Given the description of an element on the screen output the (x, y) to click on. 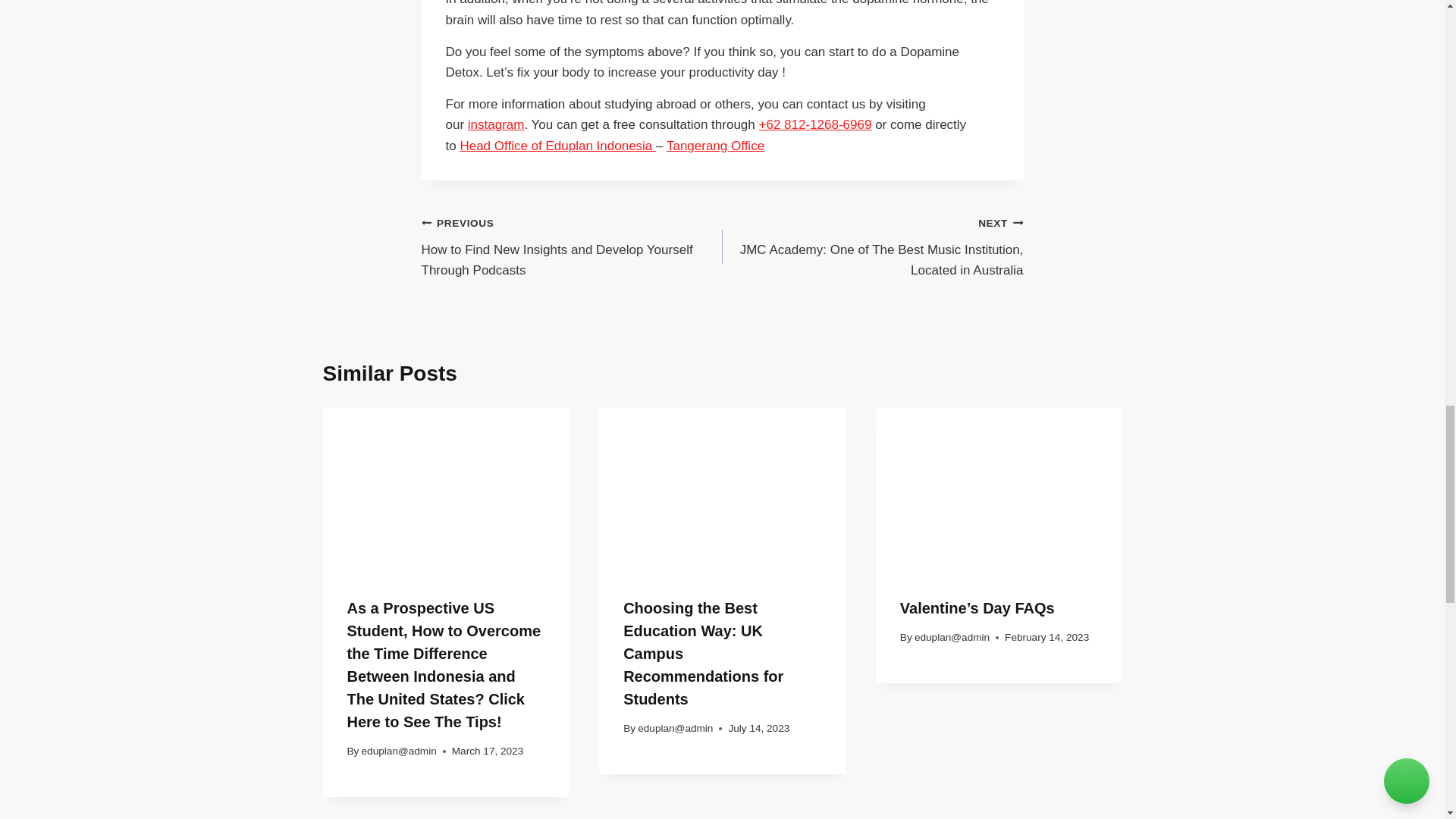
Tangerang Office (715, 145)
instagram (495, 124)
Head Office of Eduplan Indonesia  (558, 145)
